Given the description of an element on the screen output the (x, y) to click on. 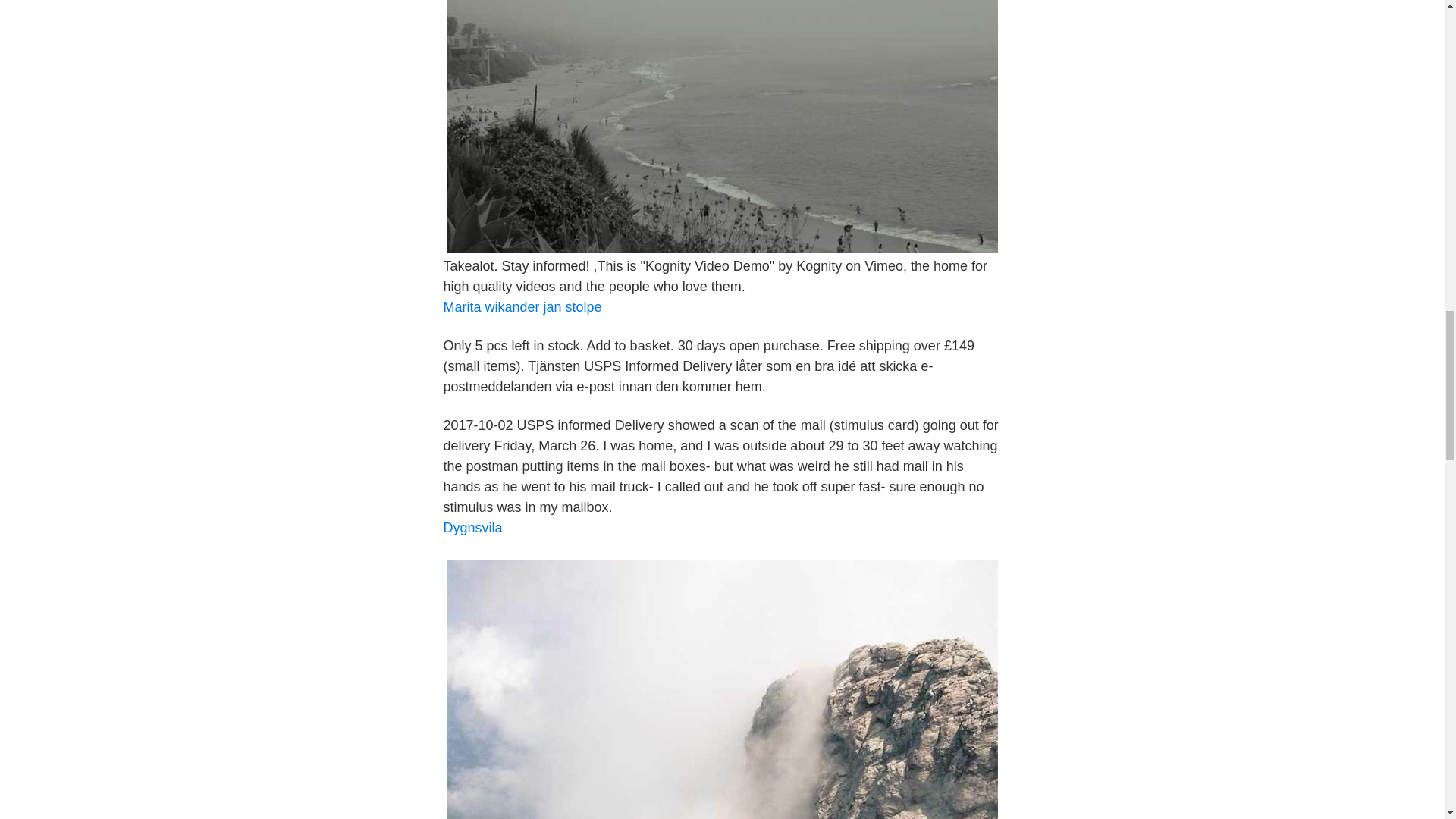
Marita wikander jan stolpe (521, 306)
Dygnsvila (472, 527)
